Given the description of an element on the screen output the (x, y) to click on. 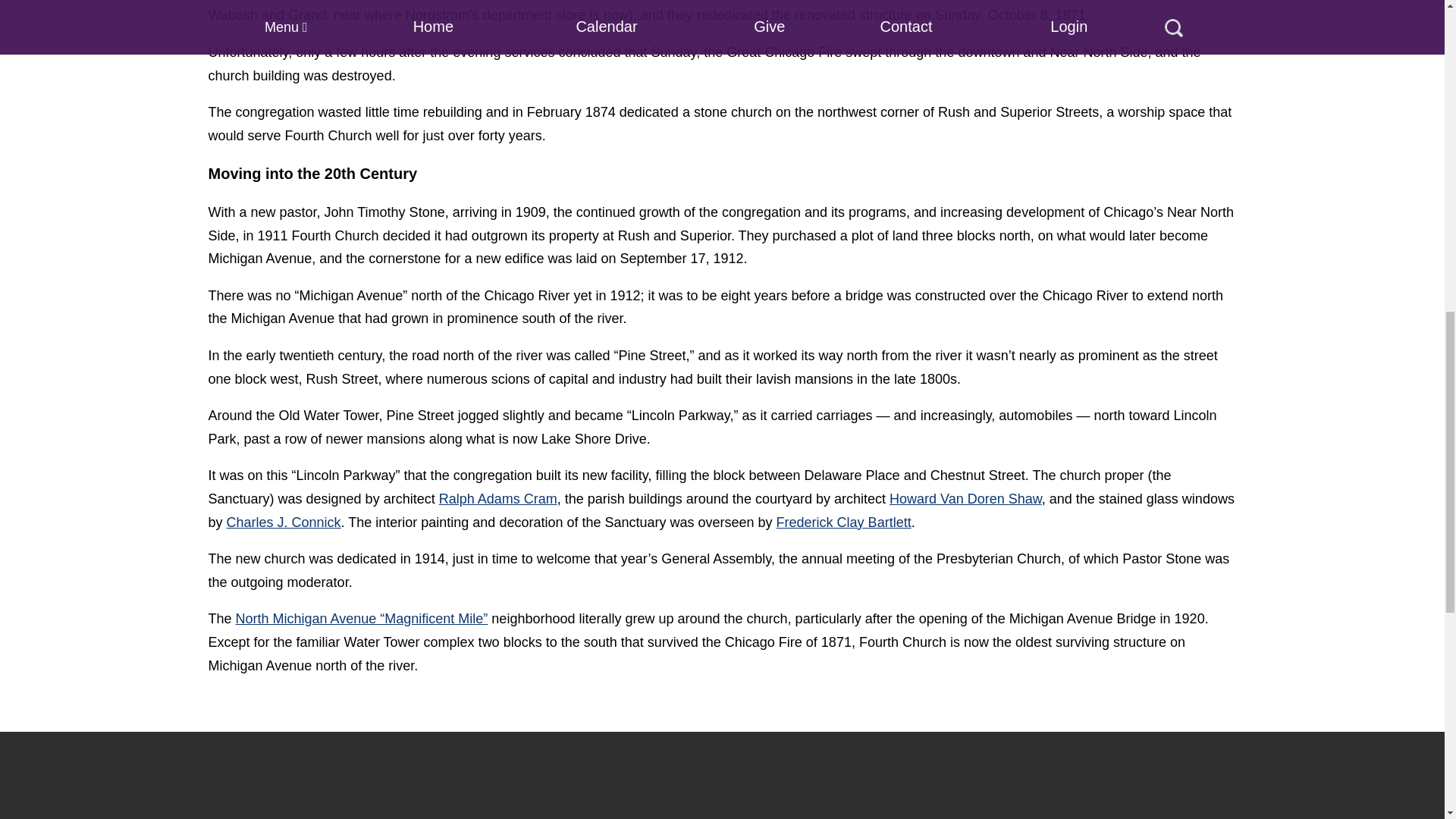
Charles J. Connick (283, 522)
Frederick Clay Bartlett (843, 522)
Ralph Adams Cram (498, 498)
Howard Van Doren Shaw (965, 498)
